Given the description of an element on the screen output the (x, y) to click on. 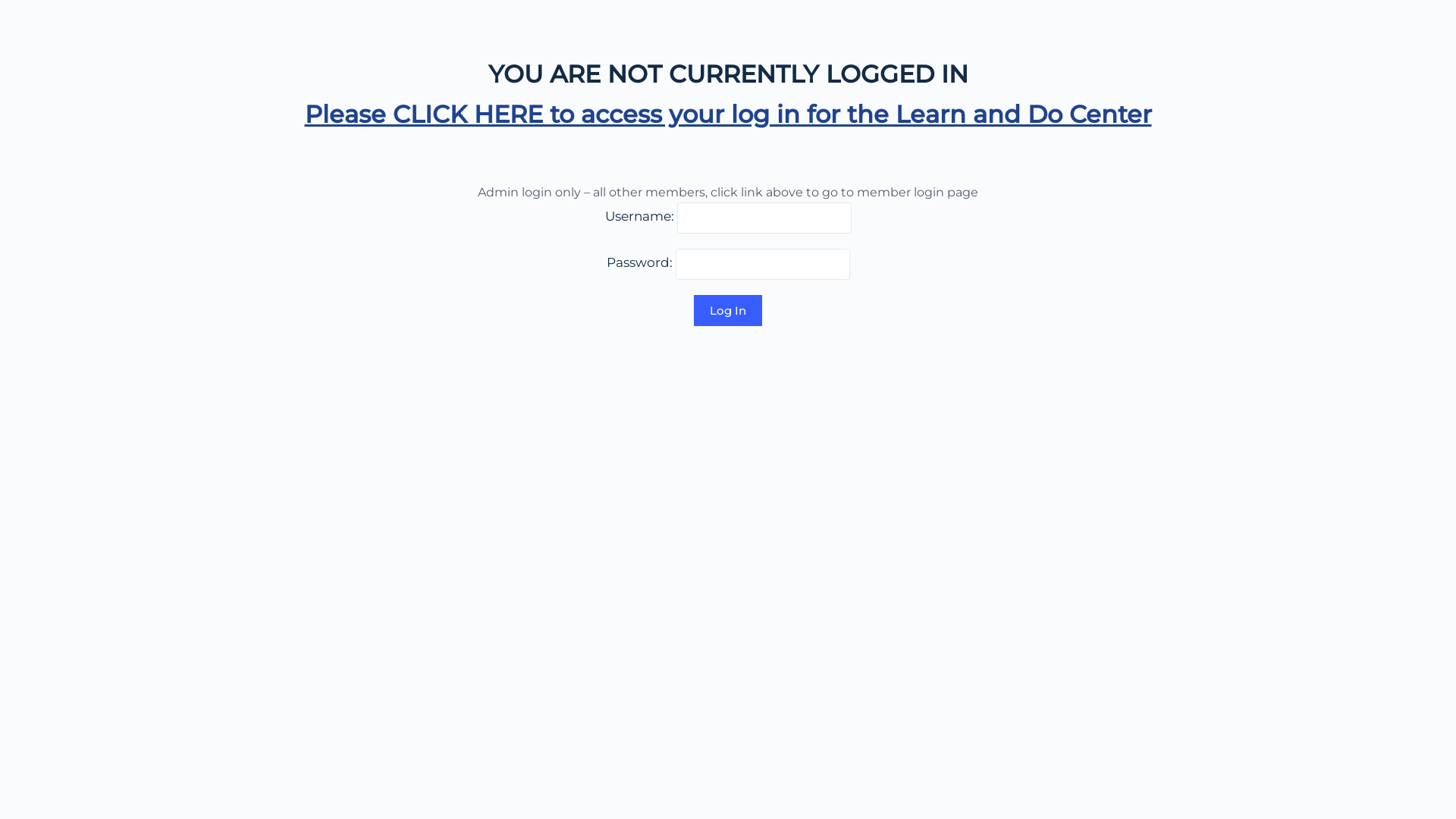
Log In Element type: text (727, 310)
